Given the description of an element on the screen output the (x, y) to click on. 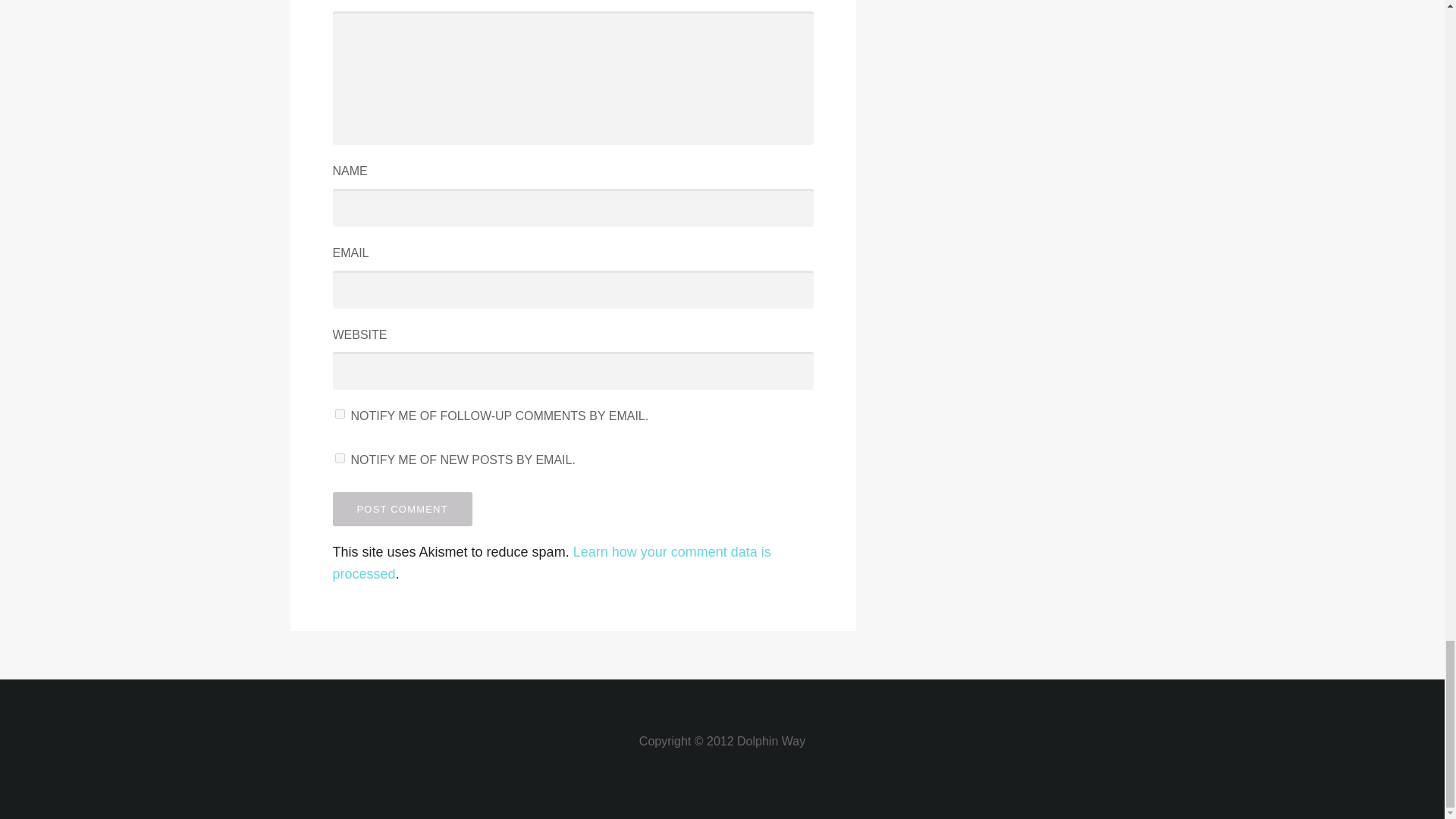
Post Comment (401, 509)
